Given the description of an element on the screen output the (x, y) to click on. 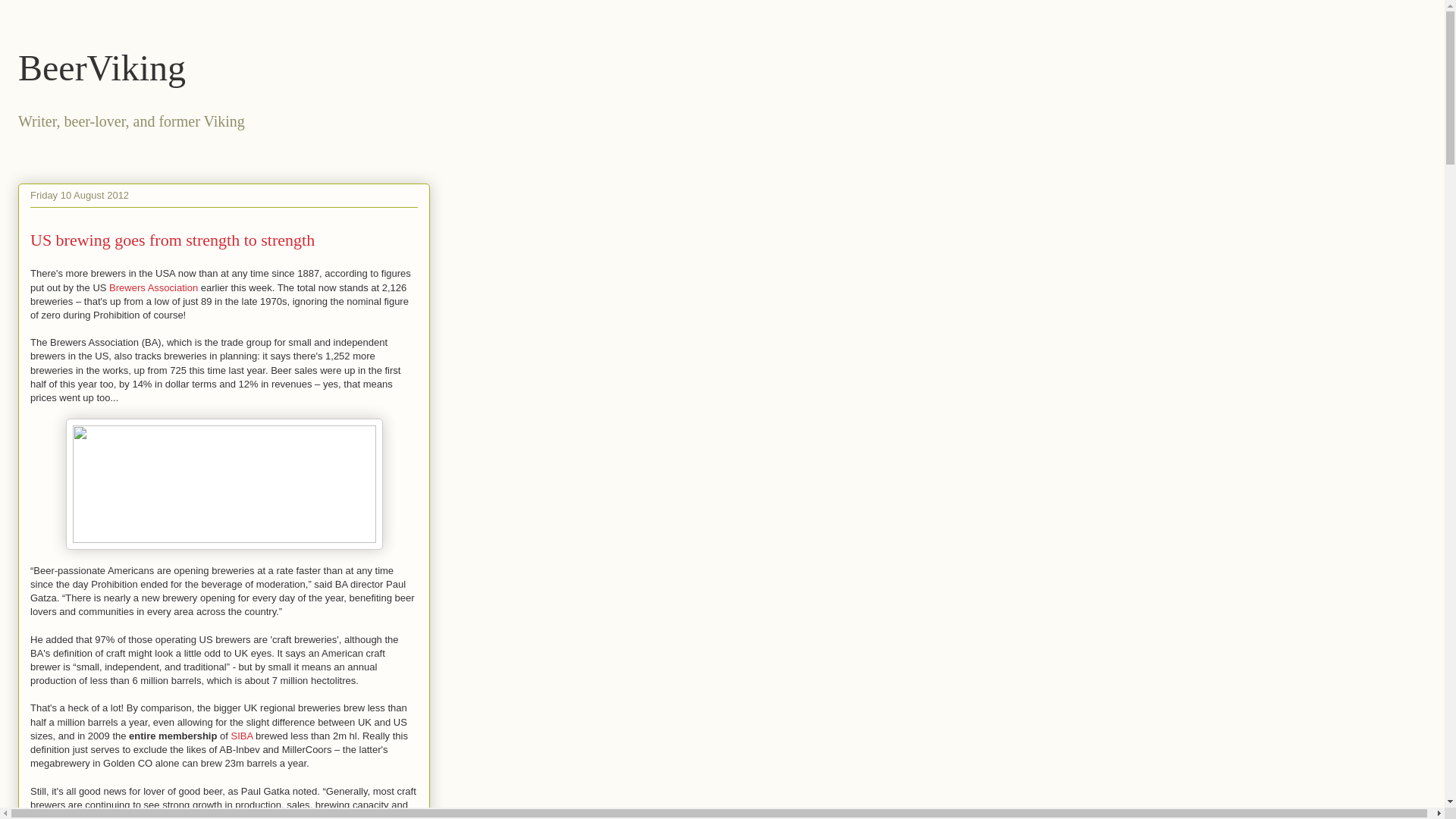
BeerViking (101, 67)
SIBA (240, 736)
Brewers Association (153, 287)
